Given the description of an element on the screen output the (x, y) to click on. 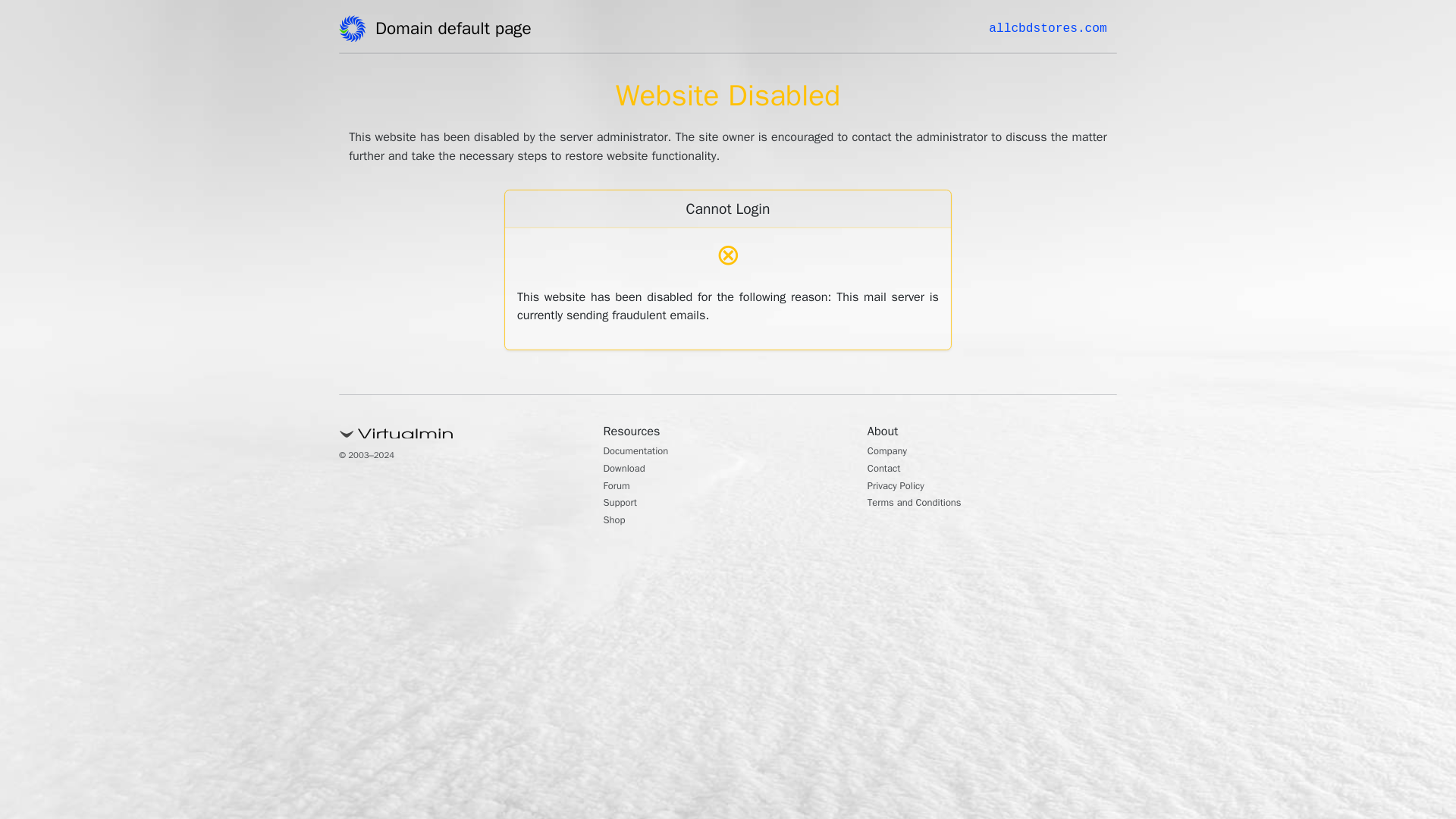
BDCLIFEINSTYLE.COM (411, 28)
Search for: (1049, 47)
Search (1050, 85)
DMCA Policy (996, 282)
Search (1050, 85)
Log in (980, 588)
Search (1050, 85)
Contact Us (991, 258)
Terms of Use (996, 330)
Disclaimer (990, 354)
Skip to content (34, 9)
ADMINISTRATOR (417, 81)
August 2020 (996, 432)
Latest Article (996, 172)
RSS (977, 612)
